Given the description of an element on the screen output the (x, y) to click on. 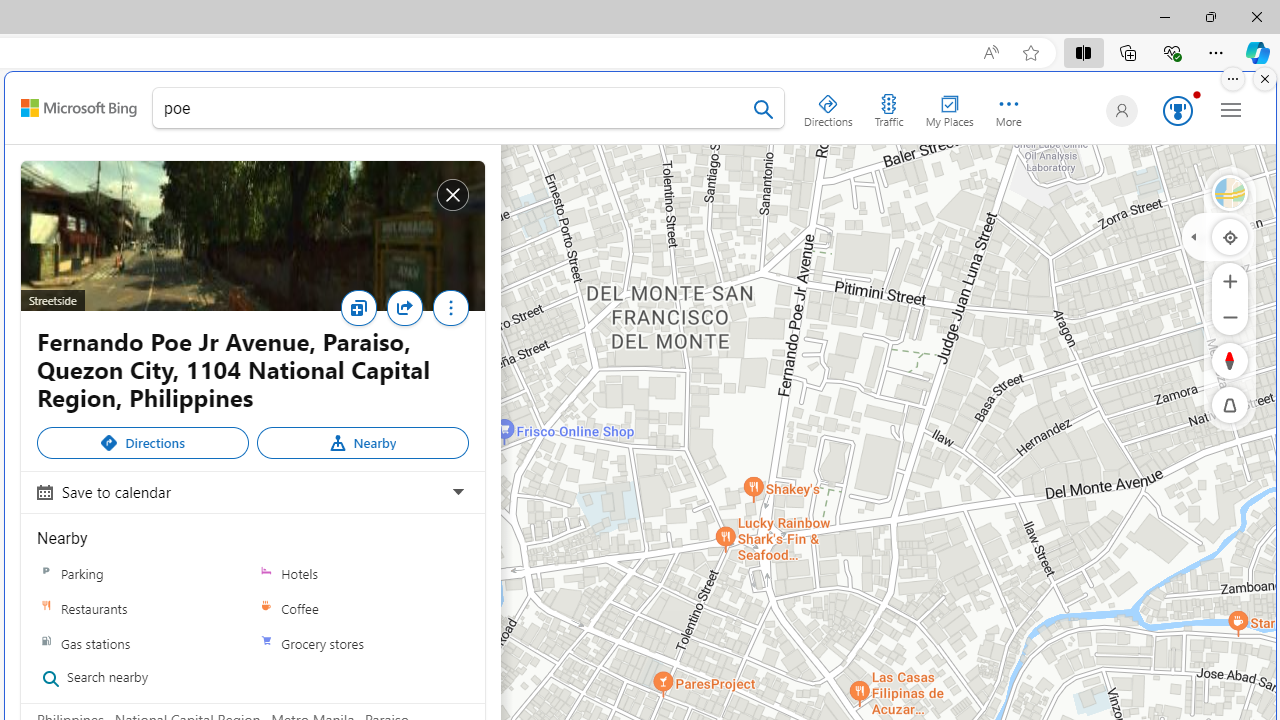
Gas stations (143, 642)
Save to calendar (250, 491)
Save (358, 308)
Rotate Right (1210, 360)
Bird's eye (1230, 192)
AutomationID: serp_medal_svg (1178, 110)
Coffee (266, 609)
Select Style (1230, 192)
Microsoft Rewards 123 (1174, 111)
More (450, 313)
Eugene (1117, 110)
